Given the description of an element on the screen output the (x, y) to click on. 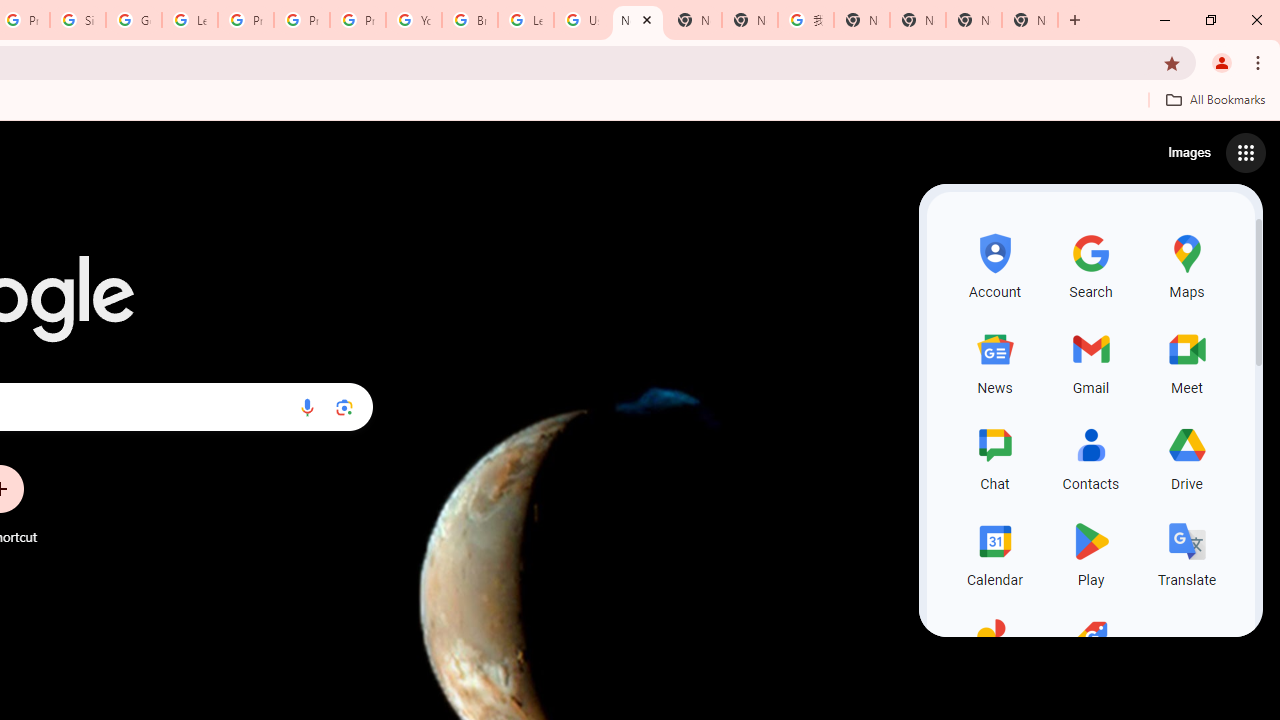
Contacts, row 3 of 5 and column 2 of 3 in the first section (1090, 455)
Sign in - Google Accounts (77, 20)
New Tab (693, 20)
Calendar, row 4 of 5 and column 1 of 3 in the first section (994, 551)
Account, row 1 of 5 and column 1 of 3 in the first section (994, 263)
Drive, row 3 of 5 and column 3 of 3 in the first section (1186, 455)
Privacy Help Center - Policies Help (245, 20)
Shopping, row 5 of 5 and column 2 of 3 in the first section (1090, 647)
New Tab (1030, 20)
News, row 2 of 5 and column 1 of 3 in the first section (994, 359)
